Given the description of an element on the screen output the (x, y) to click on. 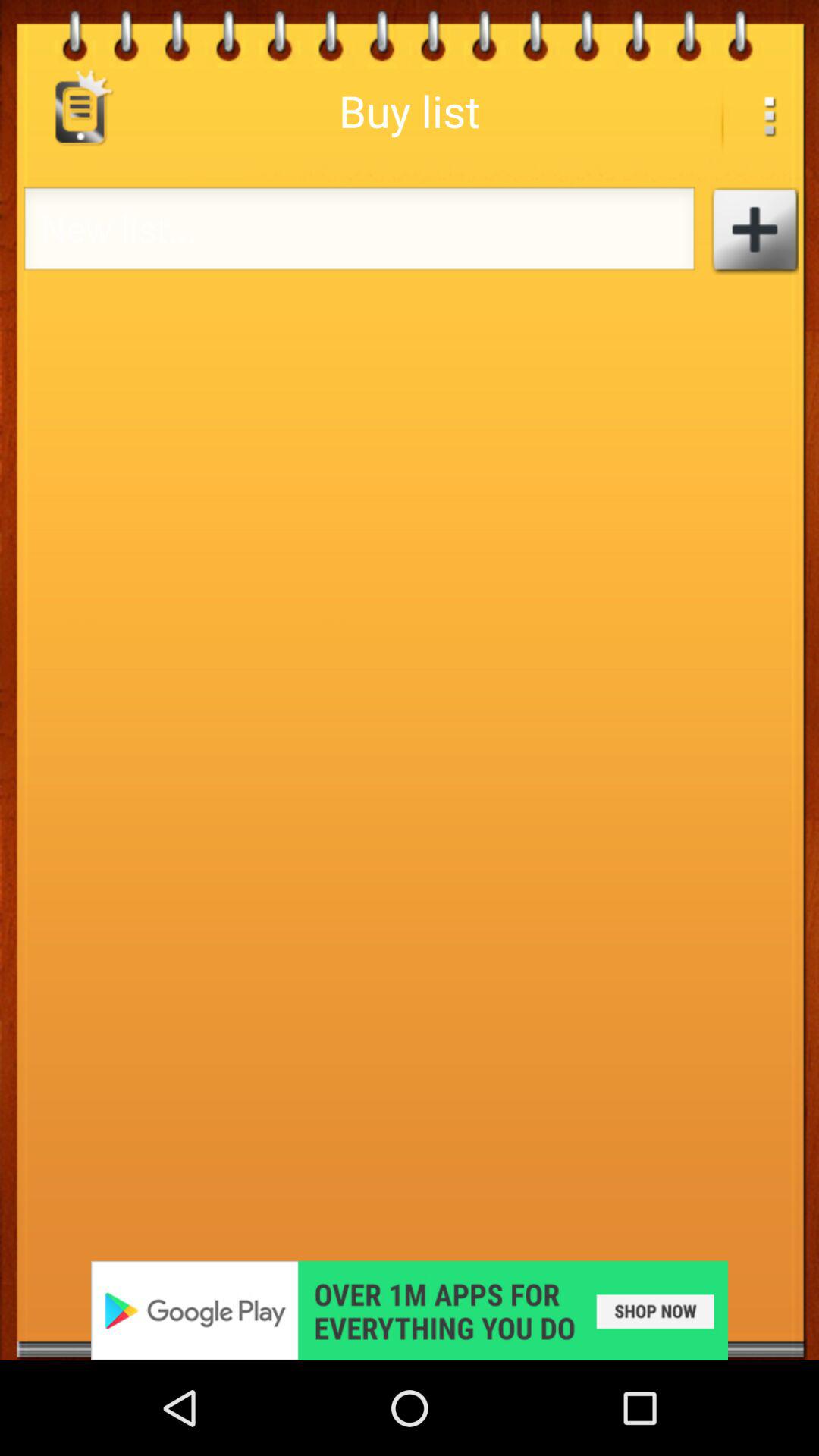
add text (754, 230)
